Given the description of an element on the screen output the (x, y) to click on. 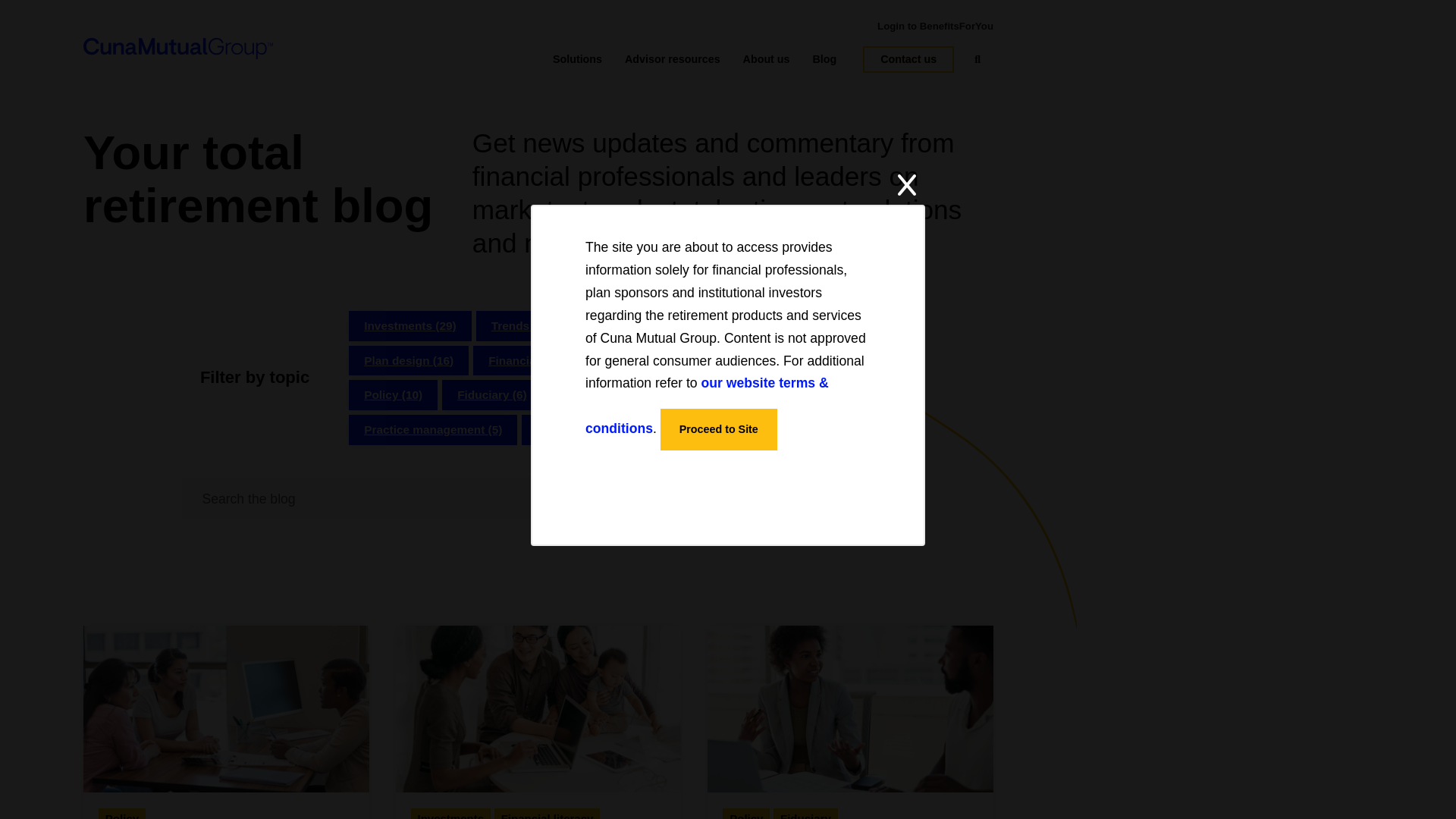
cuna-mutual-group-tm-logo (177, 47)
About us (766, 59)
Solutions (577, 59)
Advisor resources (672, 59)
Contact us (908, 58)
Proceed to Site (719, 429)
Login to BenefitsForYou (934, 25)
